Given the description of an element on the screen output the (x, y) to click on. 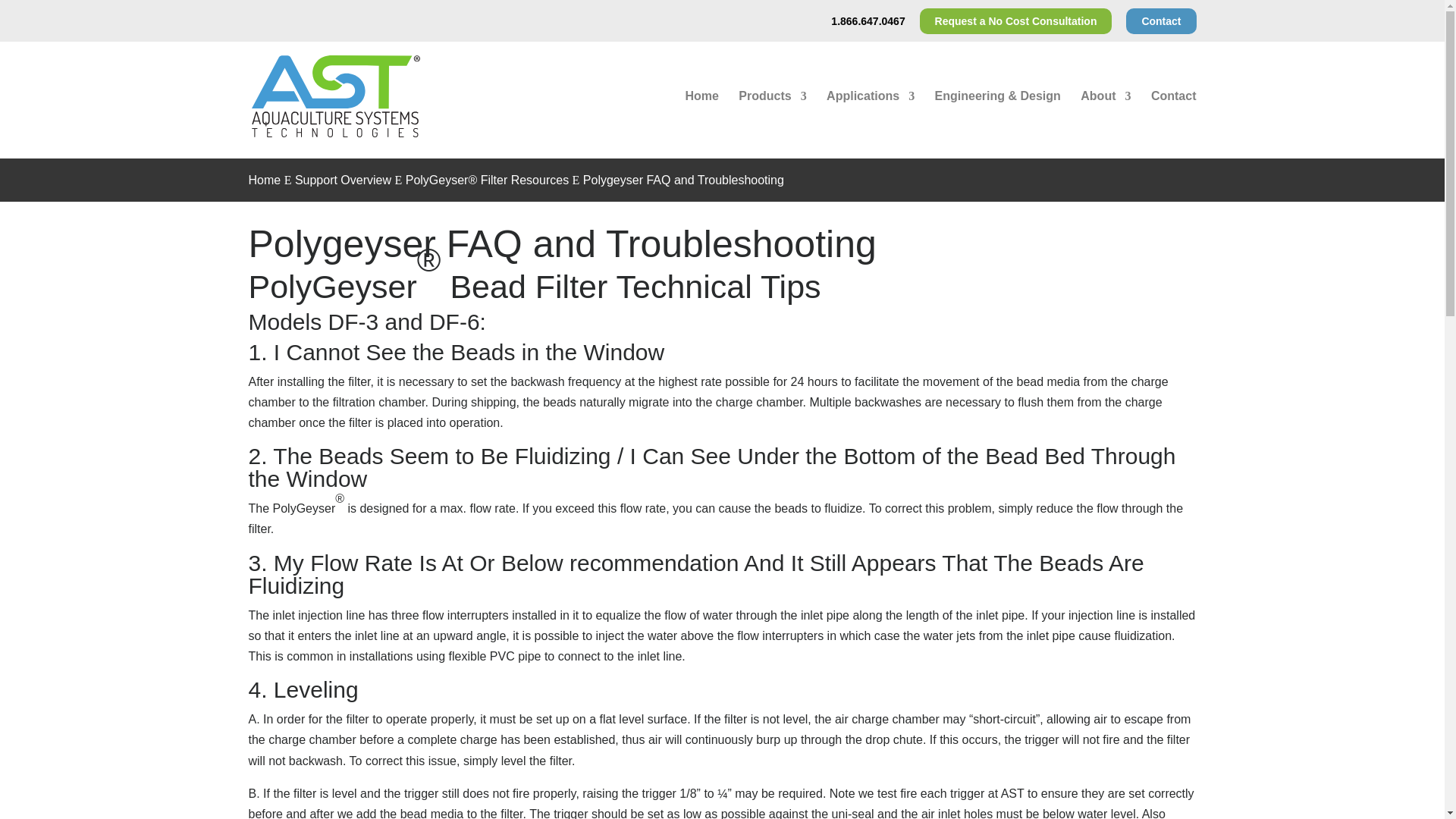
1.866.647.0467 (867, 24)
Request a No Cost Consultation (1015, 20)
Contact (1160, 20)
Products (772, 120)
Applications (870, 120)
